Given the description of an element on the screen output the (x, y) to click on. 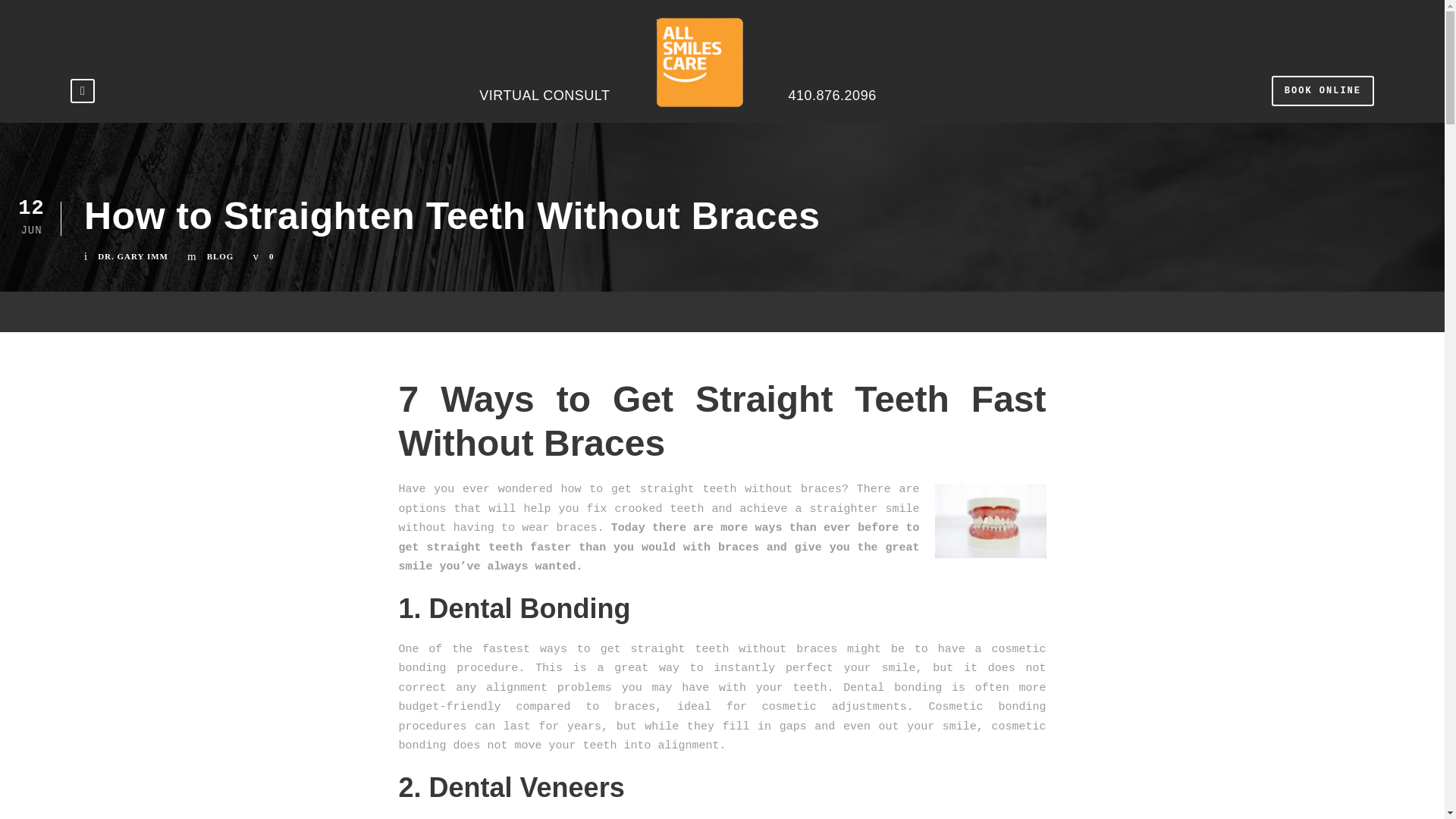
DR. GARY IMM (132, 256)
VIRTUAL CONSULT (544, 68)
Posts by Dr. Gary Imm (132, 256)
BOOK ONLINE (1322, 91)
BLOG (220, 256)
